Given the description of an element on the screen output the (x, y) to click on. 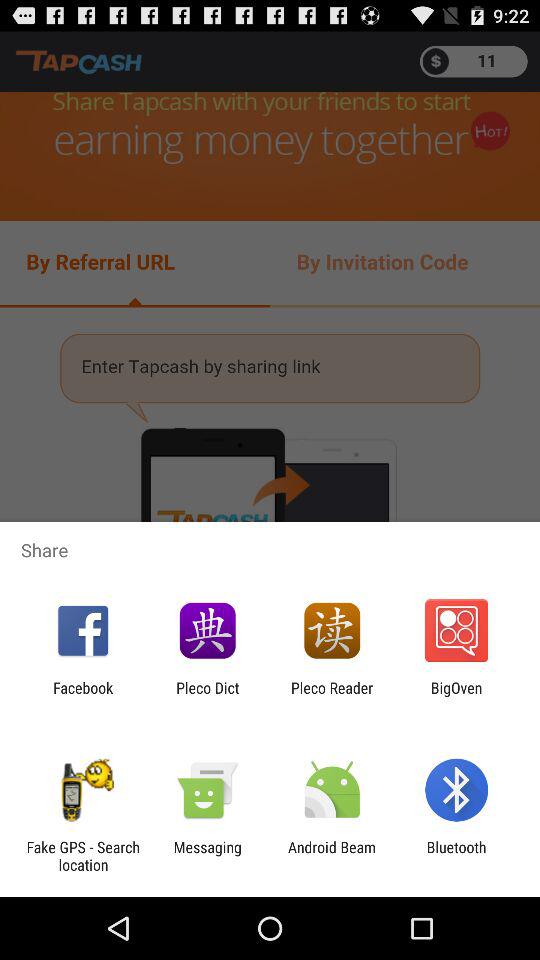
tap bluetooth (456, 856)
